Given the description of an element on the screen output the (x, y) to click on. 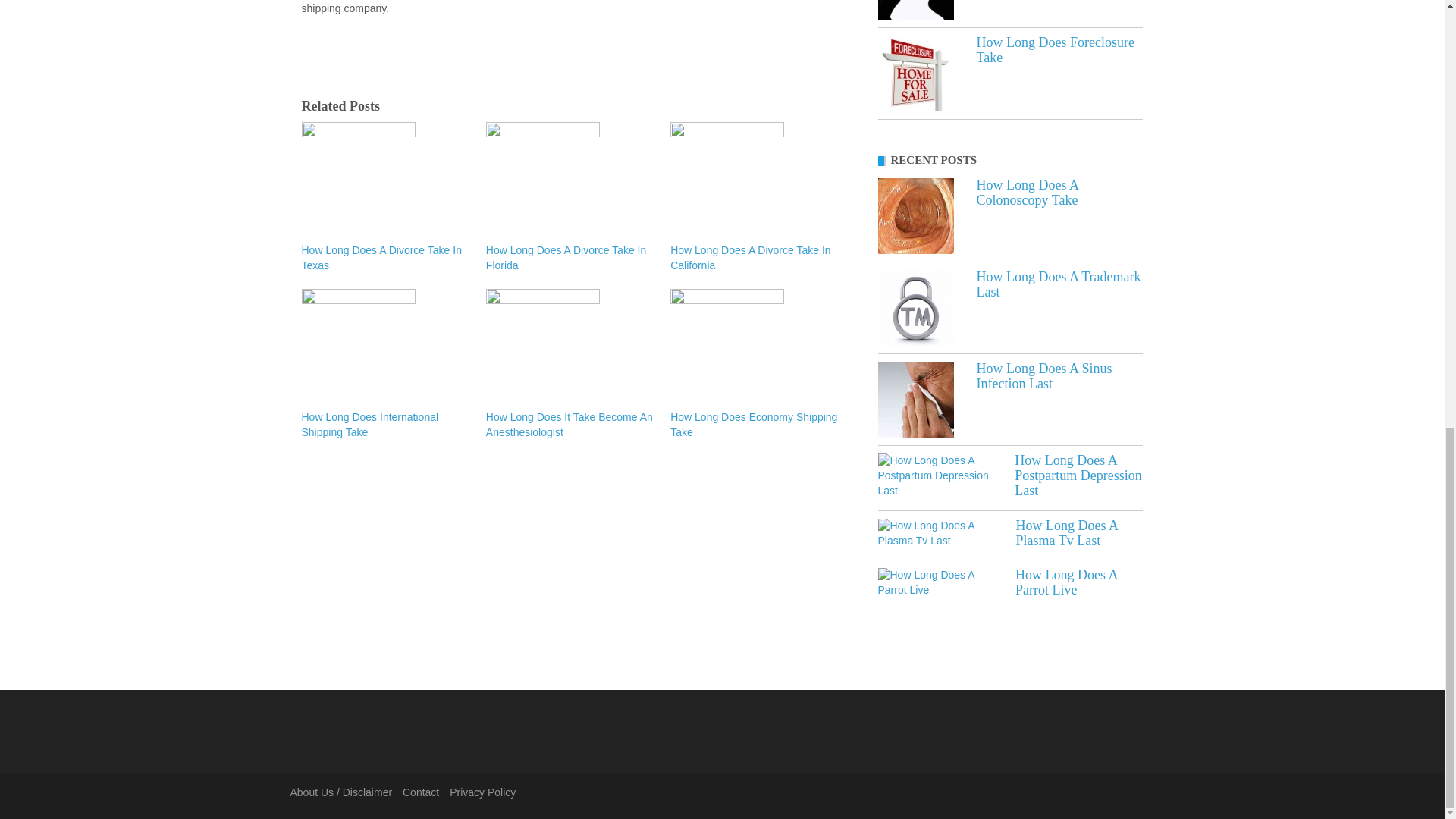
How Long Does A Divorce Take In Texas (385, 258)
How Long Does A Divorce Take In Florida (570, 258)
How Long Does A Sinus Infection Last (1044, 376)
How Long Does A Trademark Last (1058, 284)
How Long Does Economy Shipping Take (754, 425)
How Long Does Foreclosure Take (1055, 50)
How Long Does International Shipping Take (385, 425)
How Long Does A Trademark Last (915, 307)
How Long Does Alcohol Stay In Your Body (915, 9)
How Long Does A Trademark Last (1058, 284)
How Long Does Foreclosure Take (1055, 50)
How Long Does A Colonoscopy Take (1027, 192)
How Long Does Foreclosure Take (915, 73)
How Long Does A Colonoscopy Take (915, 215)
How Long Does A Divorce Take In California (754, 258)
